Given the description of an element on the screen output the (x, y) to click on. 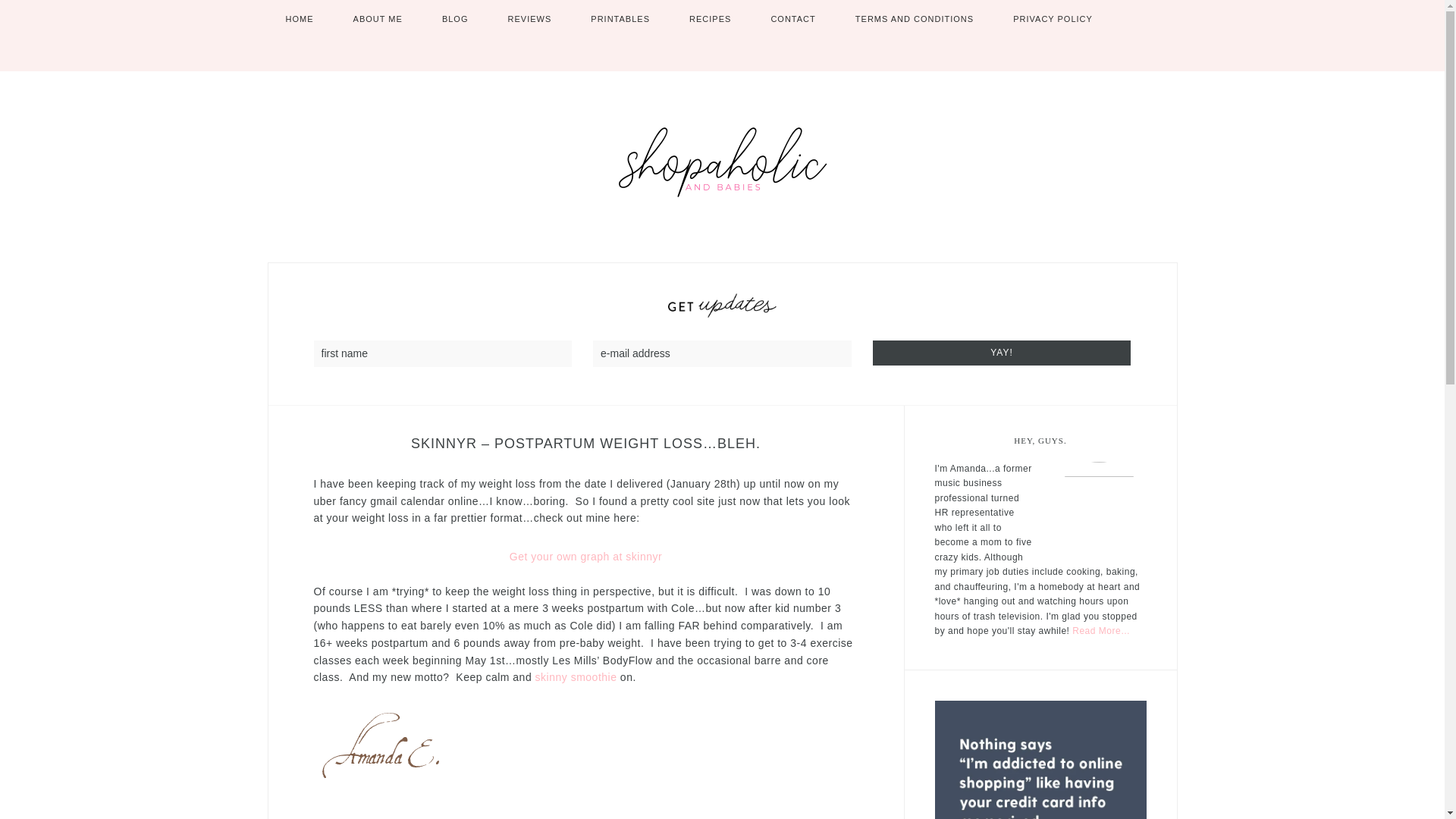
YAY! (1001, 352)
REVIEWS (529, 19)
SHOPAHOLIC AND BABIES (721, 161)
PRINTABLES (620, 19)
ABOUT ME (377, 19)
TERMS AND CONDITIONS (914, 19)
skinny smoothie (576, 676)
CONTACT (792, 19)
YAY! (1001, 352)
PRIVACY POLICY (1052, 19)
Get your own graph at skinnyr (585, 556)
RECIPES (710, 19)
BLOG (454, 19)
HOME (298, 19)
